Given the description of an element on the screen output the (x, y) to click on. 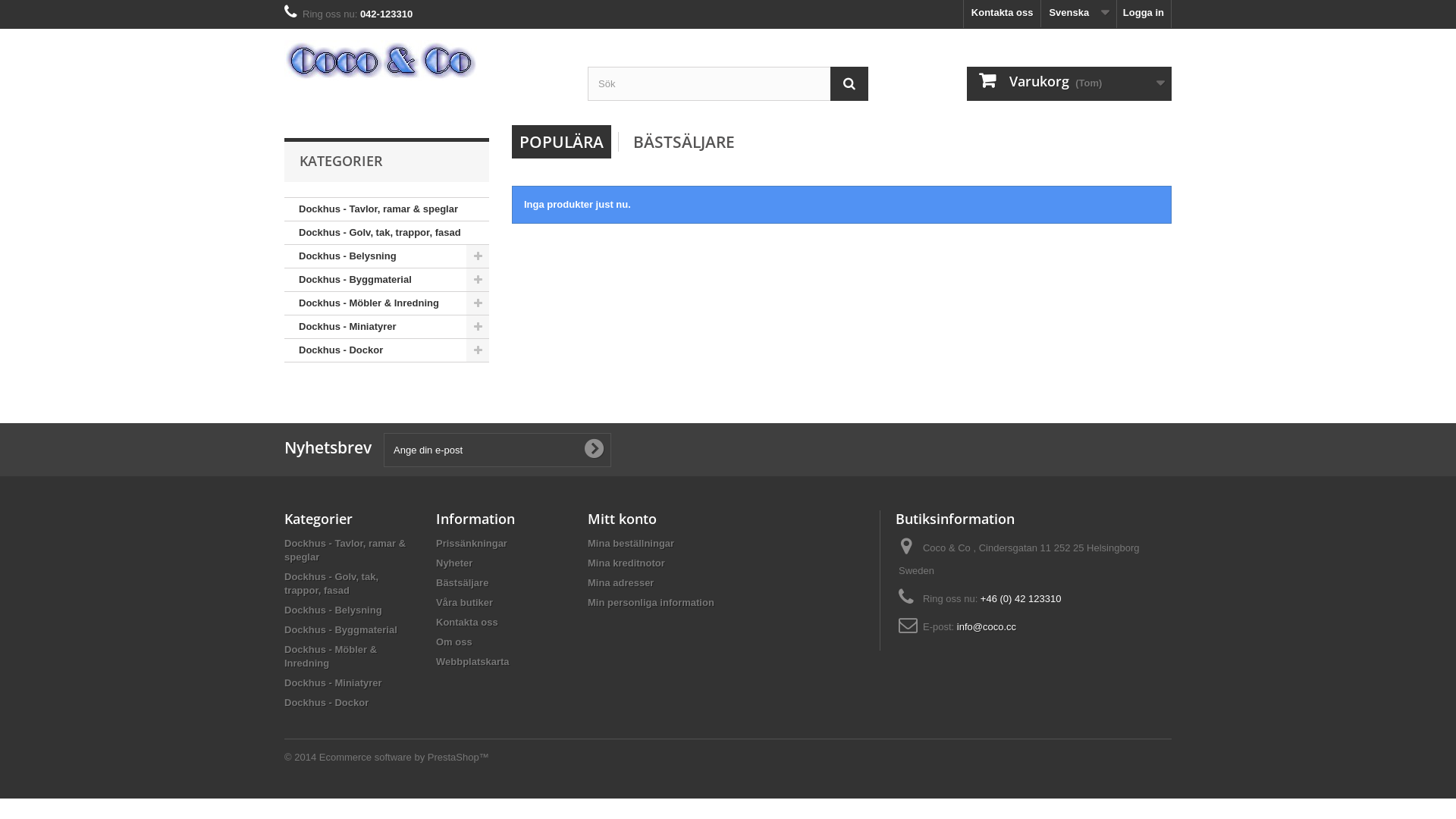
Dockhus - Miniatyrer Element type: text (333, 682)
Logga in Element type: text (1143, 14)
Dockhus - Dockor Element type: text (386, 350)
coco.cc Element type: hover (424, 60)
Varukorg (Tom) Element type: text (1068, 83)
info@coco.cc Element type: text (986, 626)
Dockhus - Belysning Element type: text (386, 256)
Kontakta oss Element type: text (1002, 14)
Mina kreditnotor Element type: text (626, 562)
Dockhus - Miniatyrer Element type: text (386, 326)
Dockhus - Tavlor, ramar & speglar Element type: text (386, 209)
Dockhus - Belysning Element type: text (333, 609)
Dockhus - Golv, tak, trappor, fasad Element type: text (331, 583)
Min personliga information Element type: text (650, 602)
Dockhus - Tavlor, ramar & speglar Element type: text (344, 549)
Webbplatskarta Element type: text (472, 661)
Kontakta oss Element type: text (467, 621)
Dockhus - Golv, tak, trappor, fasad Element type: text (386, 232)
Dockhus - Byggmaterial Element type: text (340, 629)
Mina adresser Element type: text (620, 582)
Dockhus - Byggmaterial Element type: text (386, 279)
Mitt konto Element type: text (621, 518)
Nyheter Element type: text (454, 562)
Dockhus - Dockor Element type: text (326, 702)
Om oss Element type: text (454, 641)
